Given the description of an element on the screen output the (x, y) to click on. 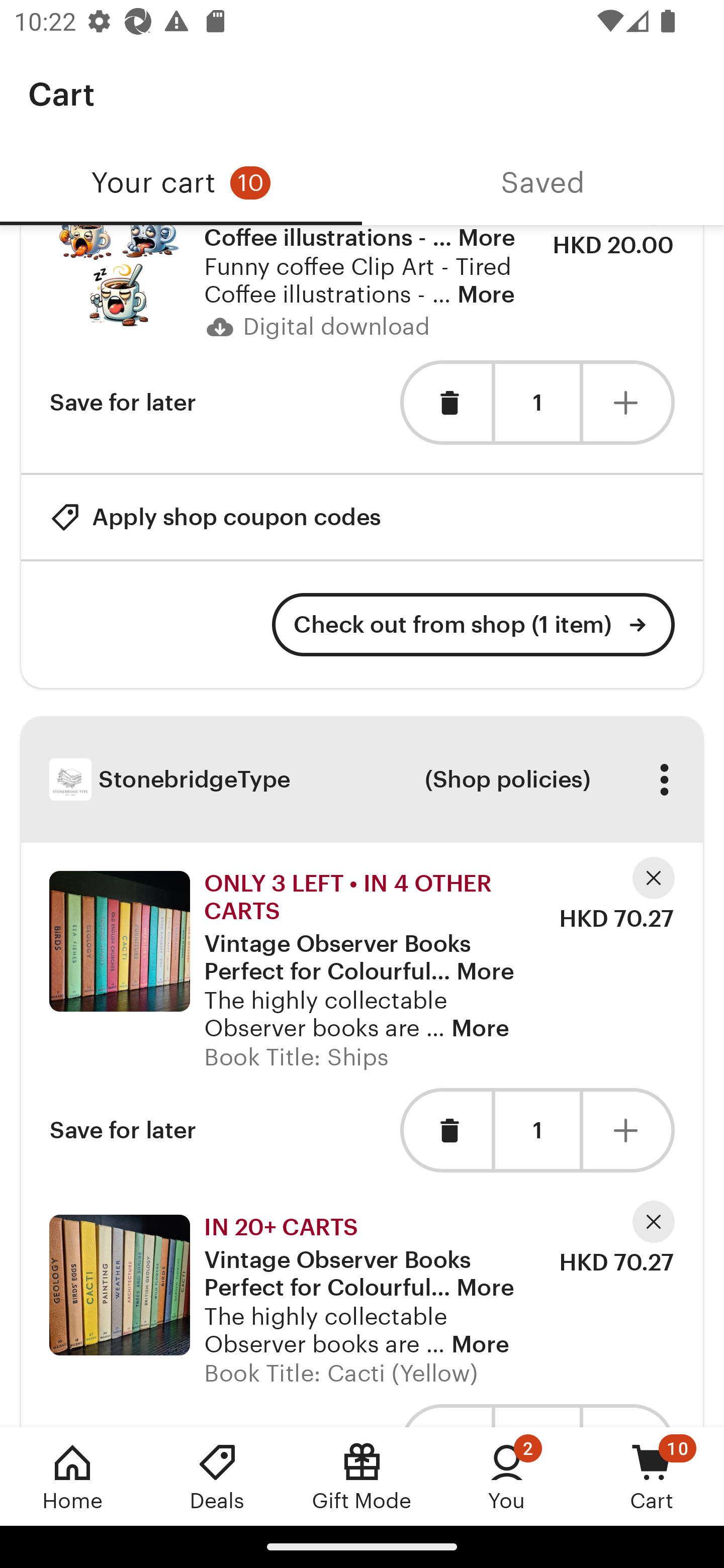
Saved, tab 2 of 2 Saved (543, 183)
Save for later (122, 402)
Remove item from cart (445, 402)
Add one unit to cart (628, 402)
1 (537, 402)
Apply shop coupon codes (215, 517)
Check out from shop (1 item) (473, 623)
StonebridgeType (Shop policies) More options (361, 779)
(Shop policies) (507, 778)
More options (663, 778)
Save for later (122, 1130)
Remove item from cart (445, 1130)
Add one unit to cart (628, 1130)
1 (537, 1130)
Home (72, 1475)
Deals (216, 1475)
Gift Mode (361, 1475)
You, 2 new notifications You (506, 1475)
